Given the description of an element on the screen output the (x, y) to click on. 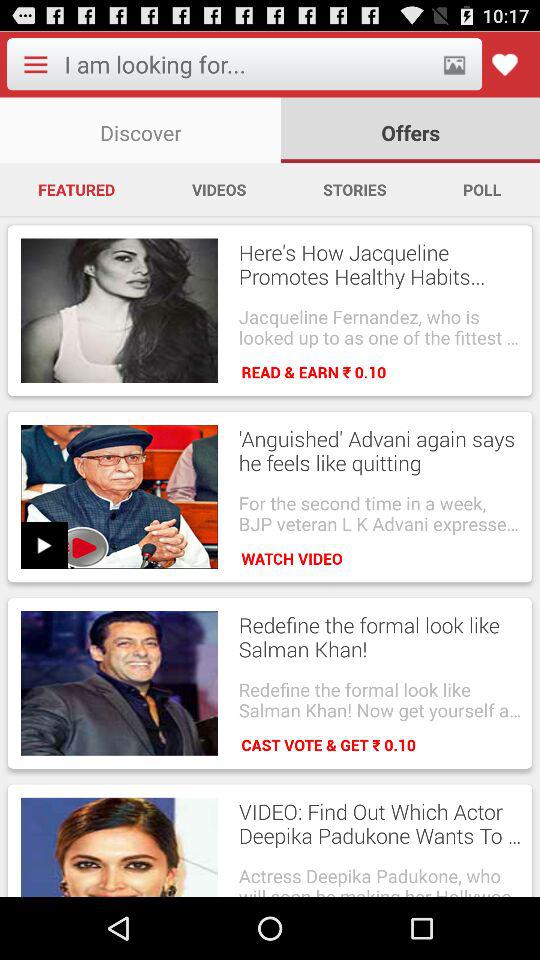
launch the stories item (354, 189)
